Given the description of an element on the screen output the (x, y) to click on. 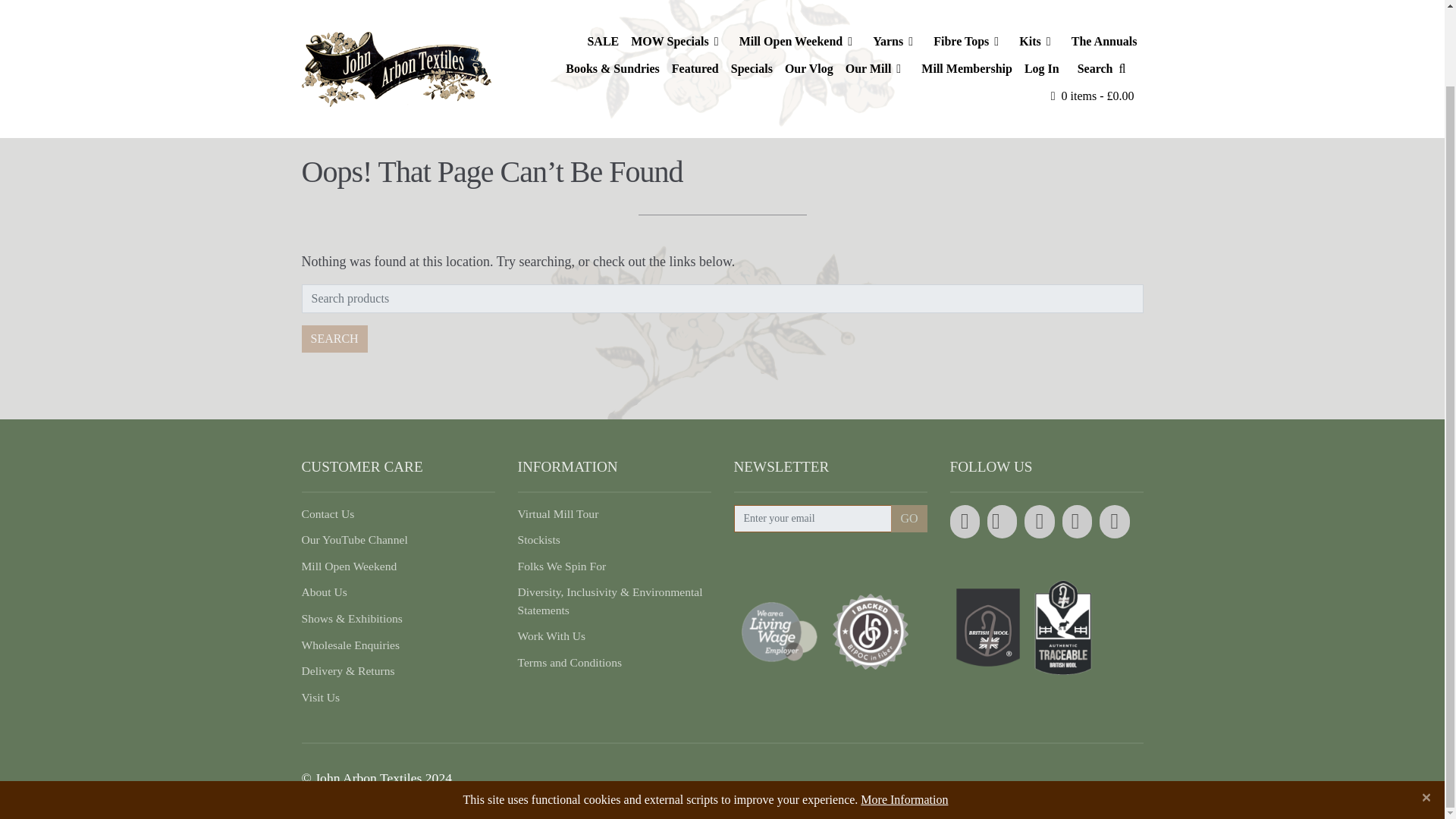
View your shopping basket (1092, 10)
